Given the description of an element on the screen output the (x, y) to click on. 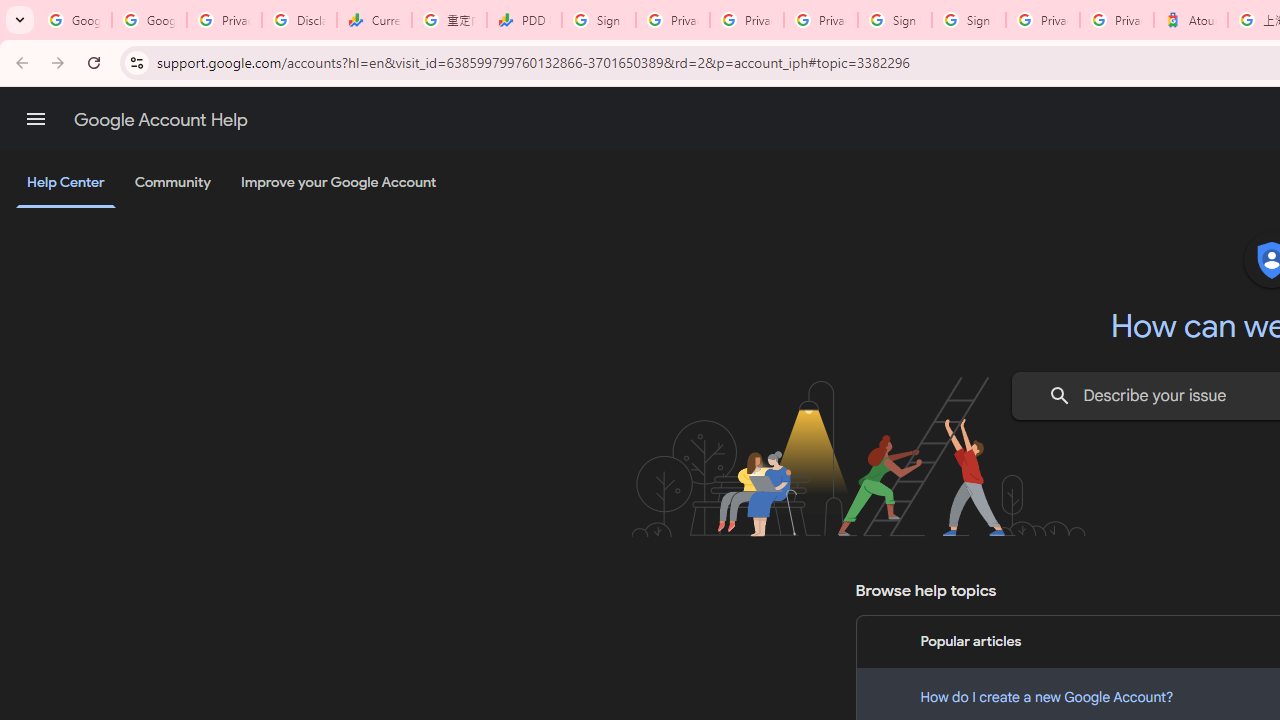
Community (171, 183)
Improve your Google Account (339, 183)
Main menu (35, 119)
Atour Hotel - Google hotels (1190, 20)
Sign in - Google Accounts (598, 20)
Google Workspace Admin Community (74, 20)
Currencies - Google Finance (374, 20)
